Given the description of an element on the screen output the (x, y) to click on. 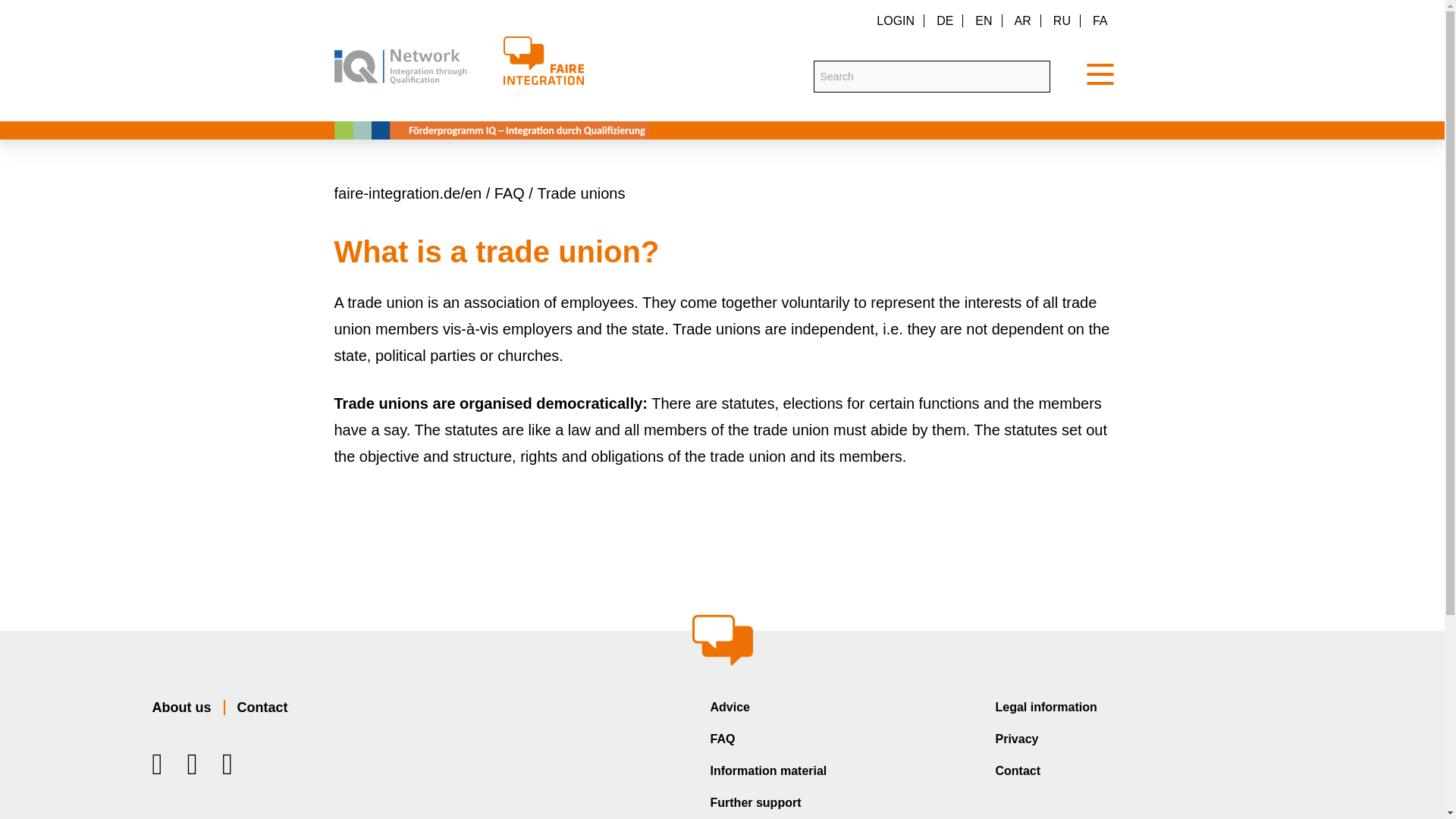
LOGIN (895, 20)
EN (978, 20)
AR (1017, 20)
DE (939, 20)
